Given the description of an element on the screen output the (x, y) to click on. 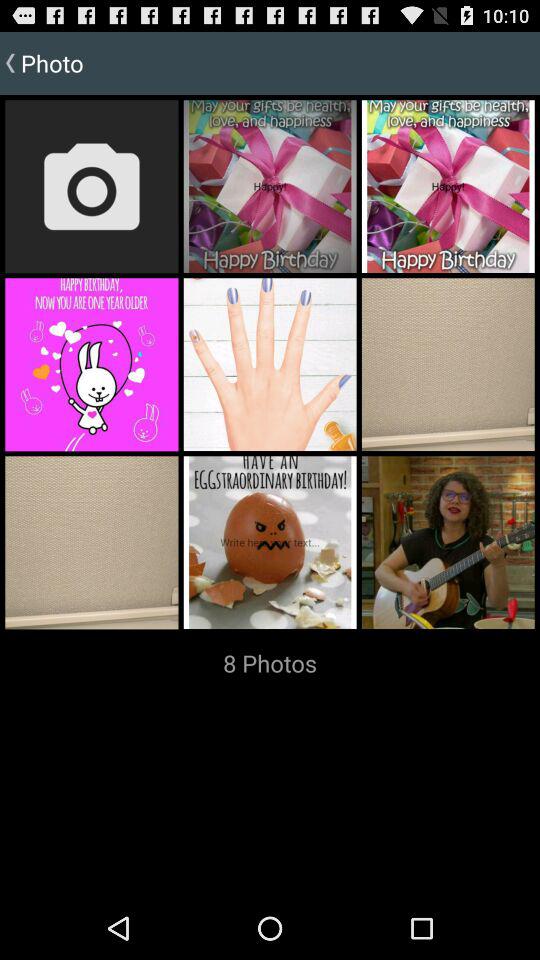
launch the 8 photos item (269, 663)
